Given the description of an element on the screen output the (x, y) to click on. 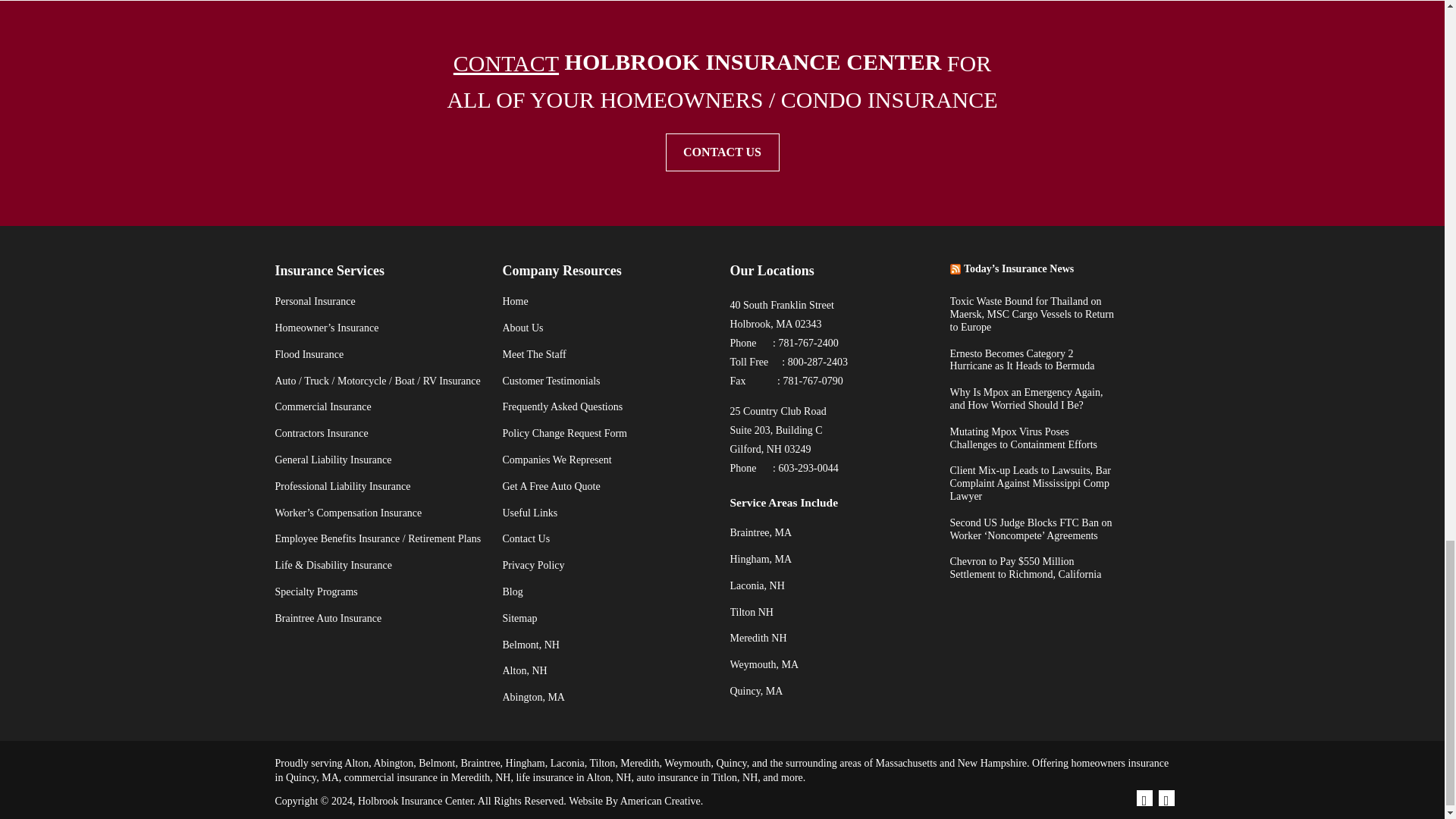
Personal Insurance (315, 301)
Flood Insurance (309, 354)
CONTACT (505, 63)
CONTACT US (721, 152)
Commercial Insurance (323, 406)
